Given the description of an element on the screen output the (x, y) to click on. 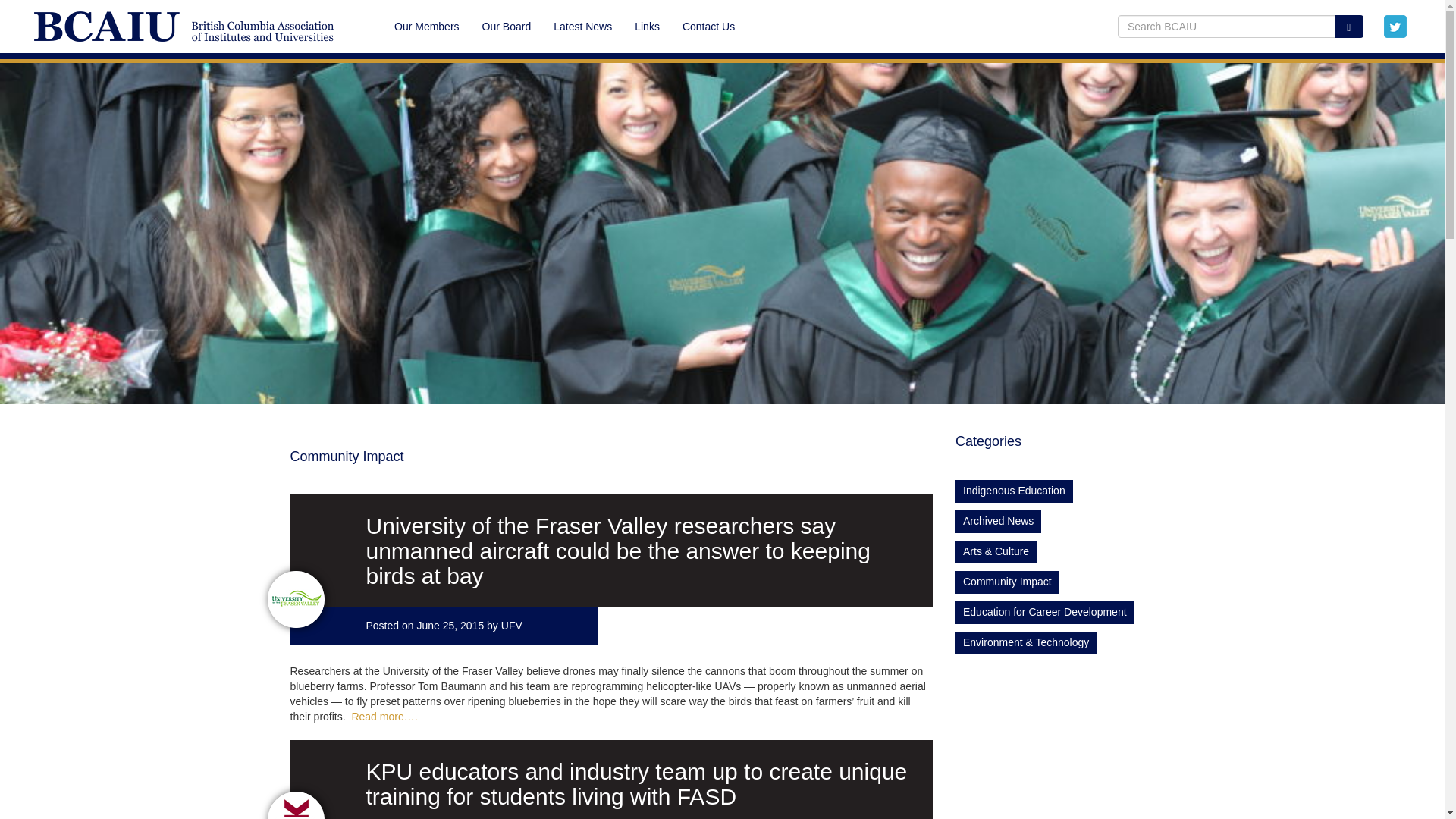
Our Board (506, 26)
Our Members (426, 26)
Contact Us (703, 26)
UFV (511, 625)
Latest News (582, 26)
Links (647, 26)
